Given the description of an element on the screen output the (x, y) to click on. 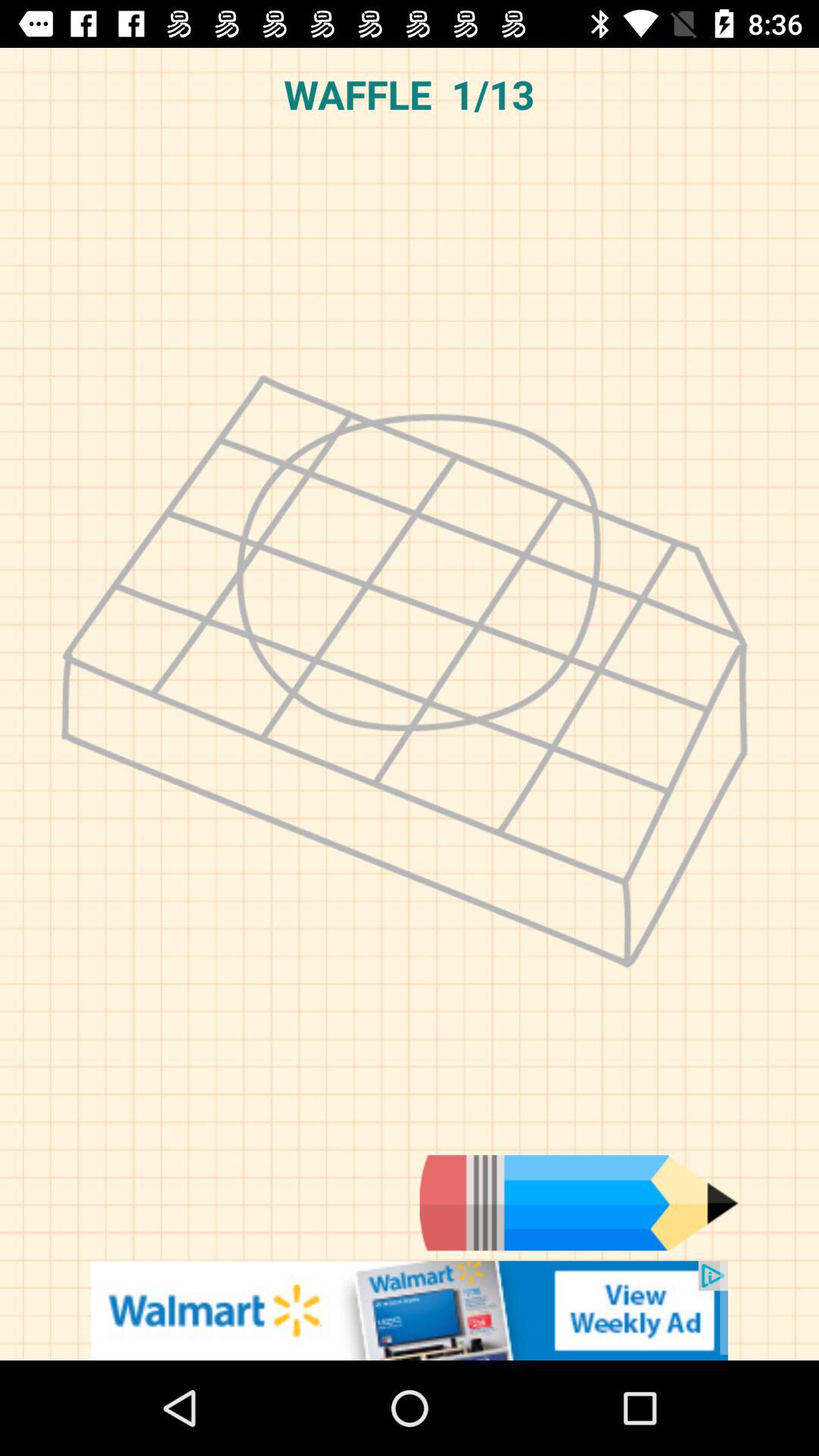
draw the graft (578, 1202)
